Given the description of an element on the screen output the (x, y) to click on. 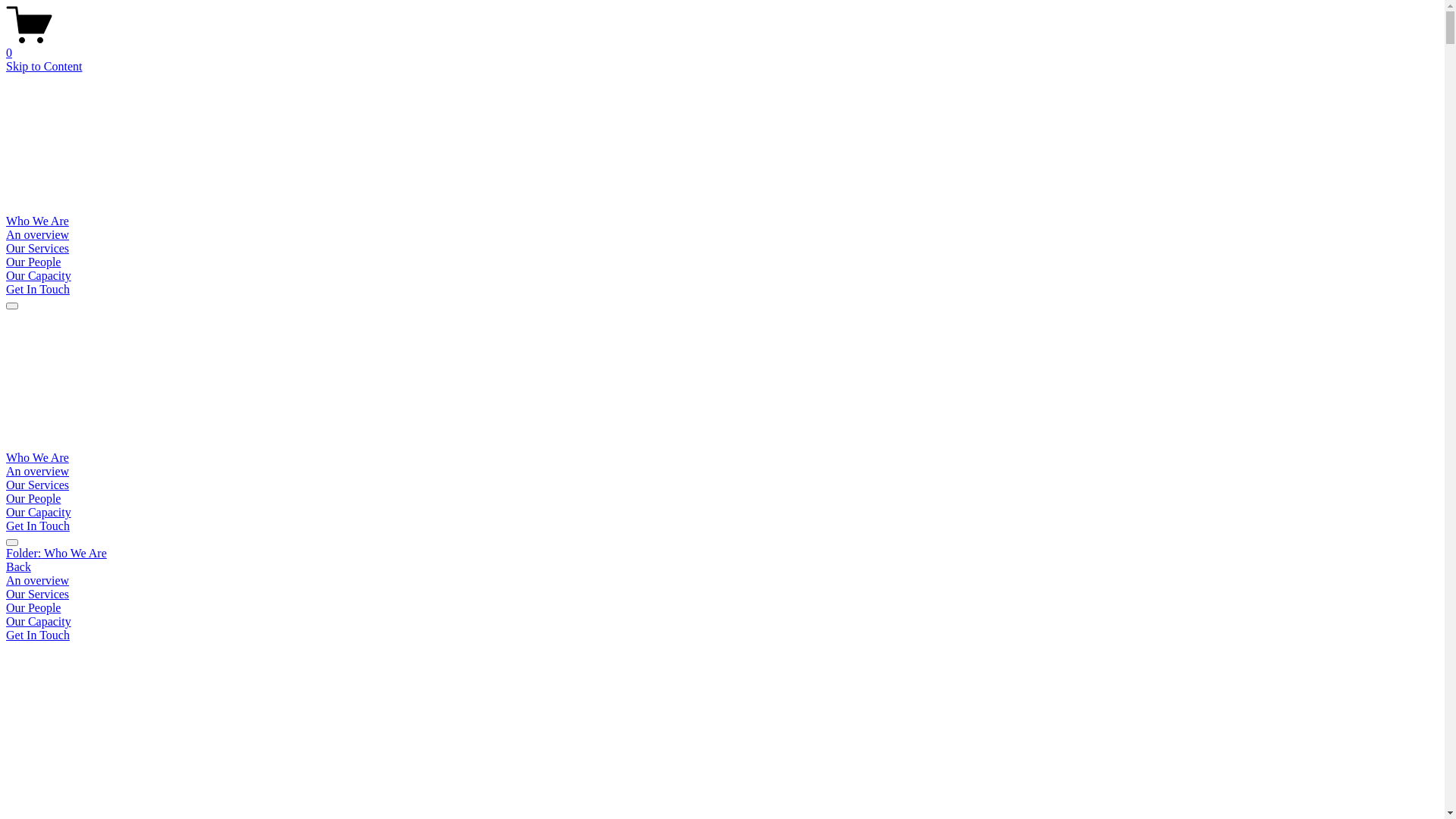
Our Capacity Element type: text (722, 621)
Our Capacity Element type: text (38, 275)
Our Services Element type: text (722, 594)
Our People Element type: text (33, 498)
Who We Are Element type: text (37, 457)
Folder: Who We Are Element type: text (722, 553)
Our Capacity Element type: text (38, 511)
Get In Touch Element type: text (37, 634)
Get In Touch Element type: text (37, 288)
Who We Are Element type: text (37, 220)
Back Element type: text (18, 566)
0 Element type: text (722, 45)
Our People Element type: text (33, 261)
Skip to Content Element type: text (43, 65)
Get In Touch Element type: text (37, 525)
Our Services Element type: text (37, 484)
Our Services Element type: text (37, 247)
An overview Element type: text (37, 470)
An overview Element type: text (722, 580)
Our People Element type: text (722, 608)
An overview Element type: text (37, 234)
